Given the description of an element on the screen output the (x, y) to click on. 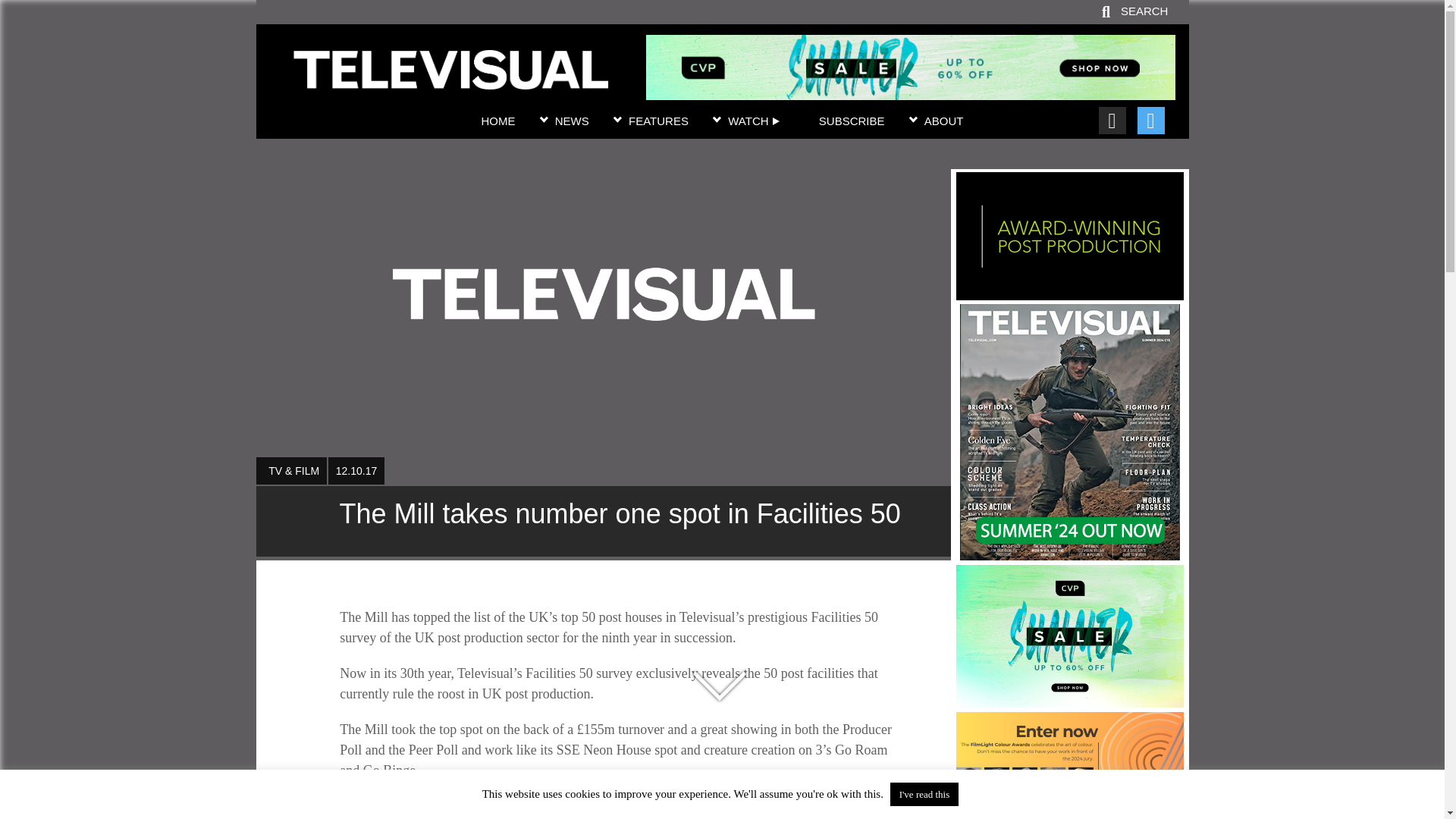
The Mill takes number one spot in Facilities 50 (451, 80)
ABOUT (943, 121)
12.10.17 (356, 470)
HOME (497, 121)
NEWS (571, 121)
The Mill takes number one spot in Facilities 50 (603, 520)
WATCH (753, 121)
SUBSCRIBE (851, 121)
FEATURES (658, 121)
